Given the description of an element on the screen output the (x, y) to click on. 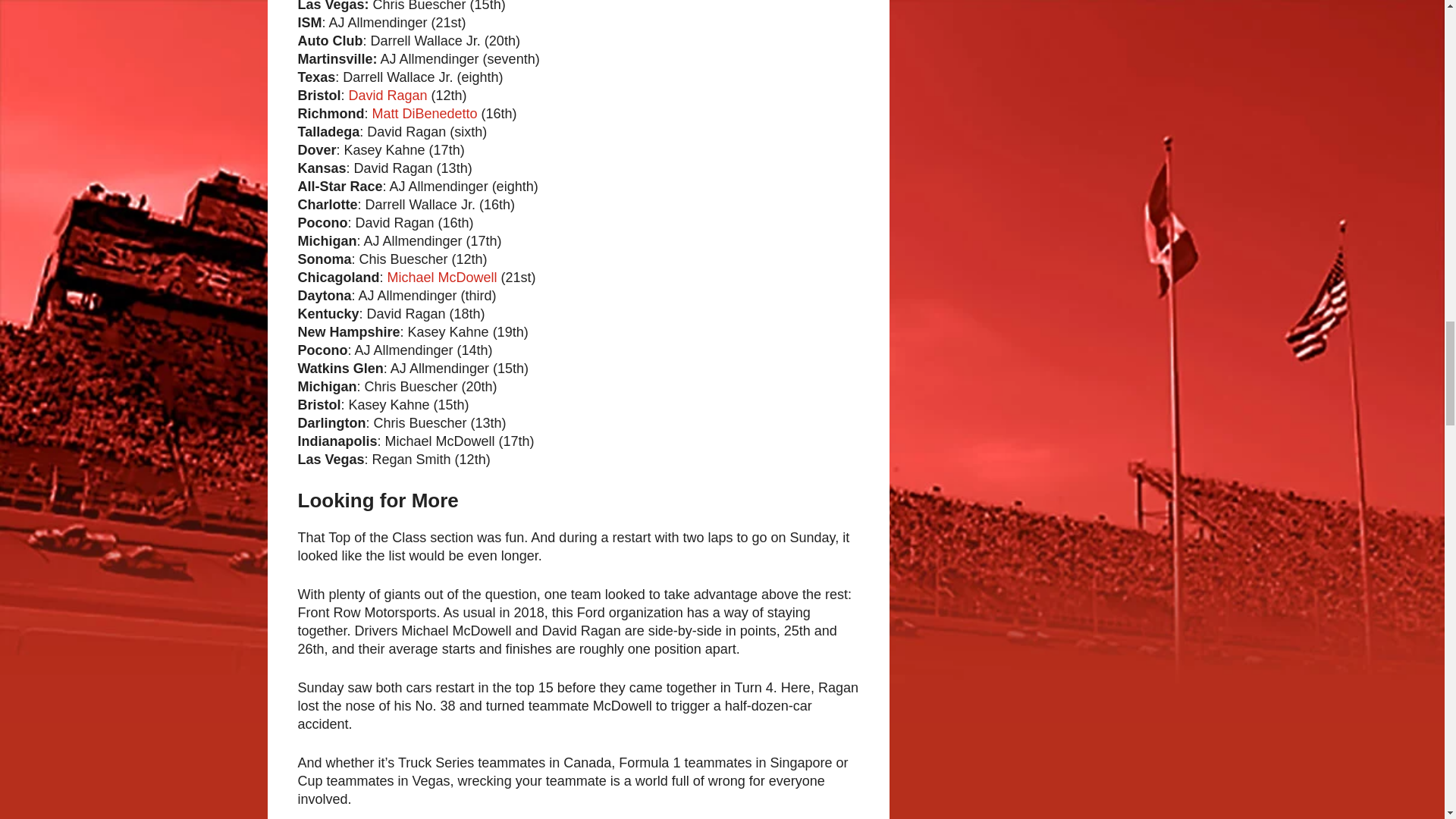
David Ragan (388, 95)
Matt DiBenedetto (424, 113)
Michael McDowell (442, 277)
